Given the description of an element on the screen output the (x, y) to click on. 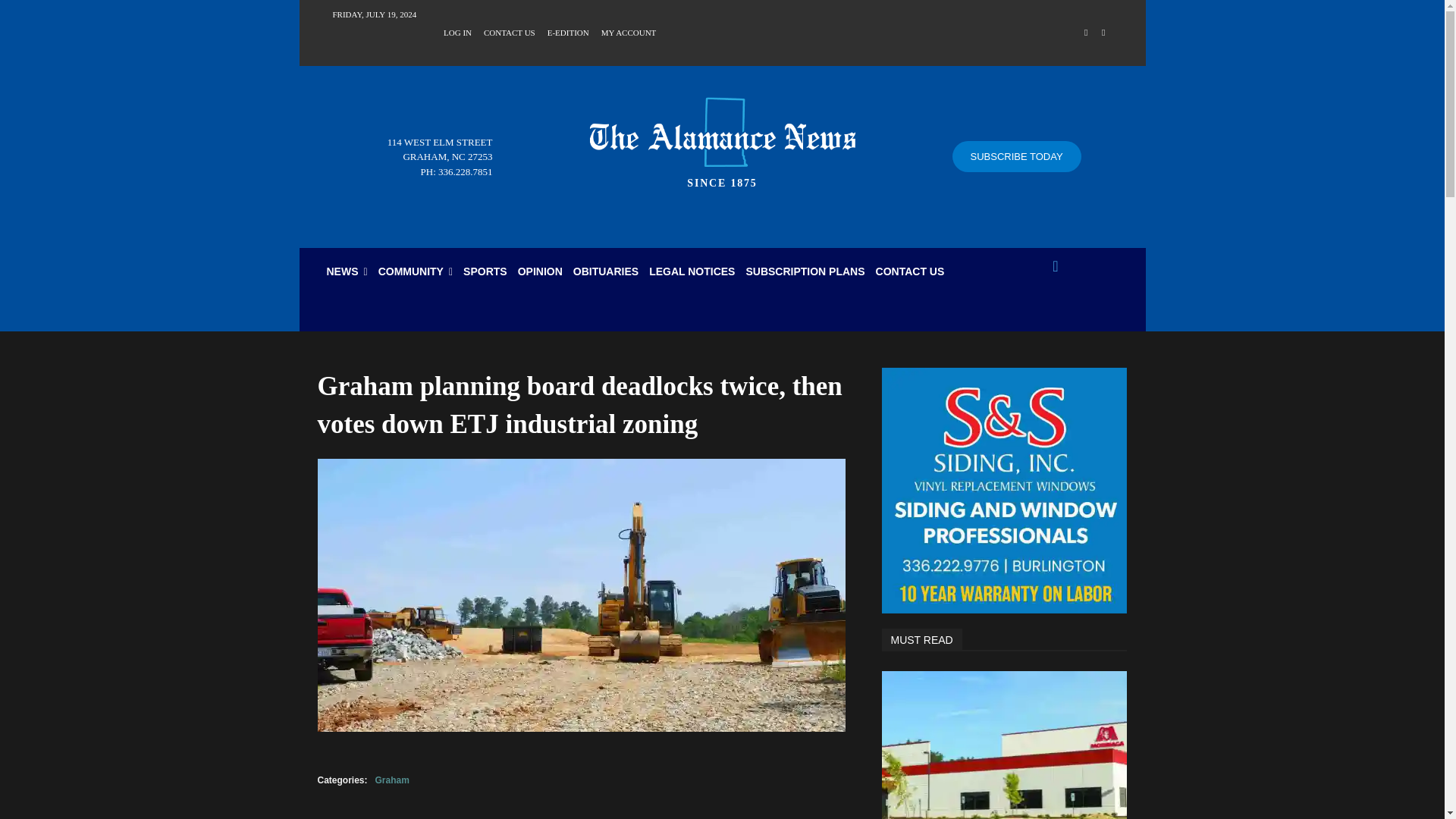
MY ACCOUNT (628, 31)
LOG IN (457, 31)
CONTACT US (509, 31)
COMMUNITY (415, 271)
SUBSCRIBE TODAY (1016, 155)
The Alamance News Logo (722, 132)
SUBSCRIBE TODAY (1016, 155)
NEWS (346, 271)
Twitter (1103, 32)
SINCE 1875 (722, 138)
The Alamance News Logo (722, 138)
E-EDITION (568, 31)
Facebook (1085, 32)
